Given the description of an element on the screen output the (x, y) to click on. 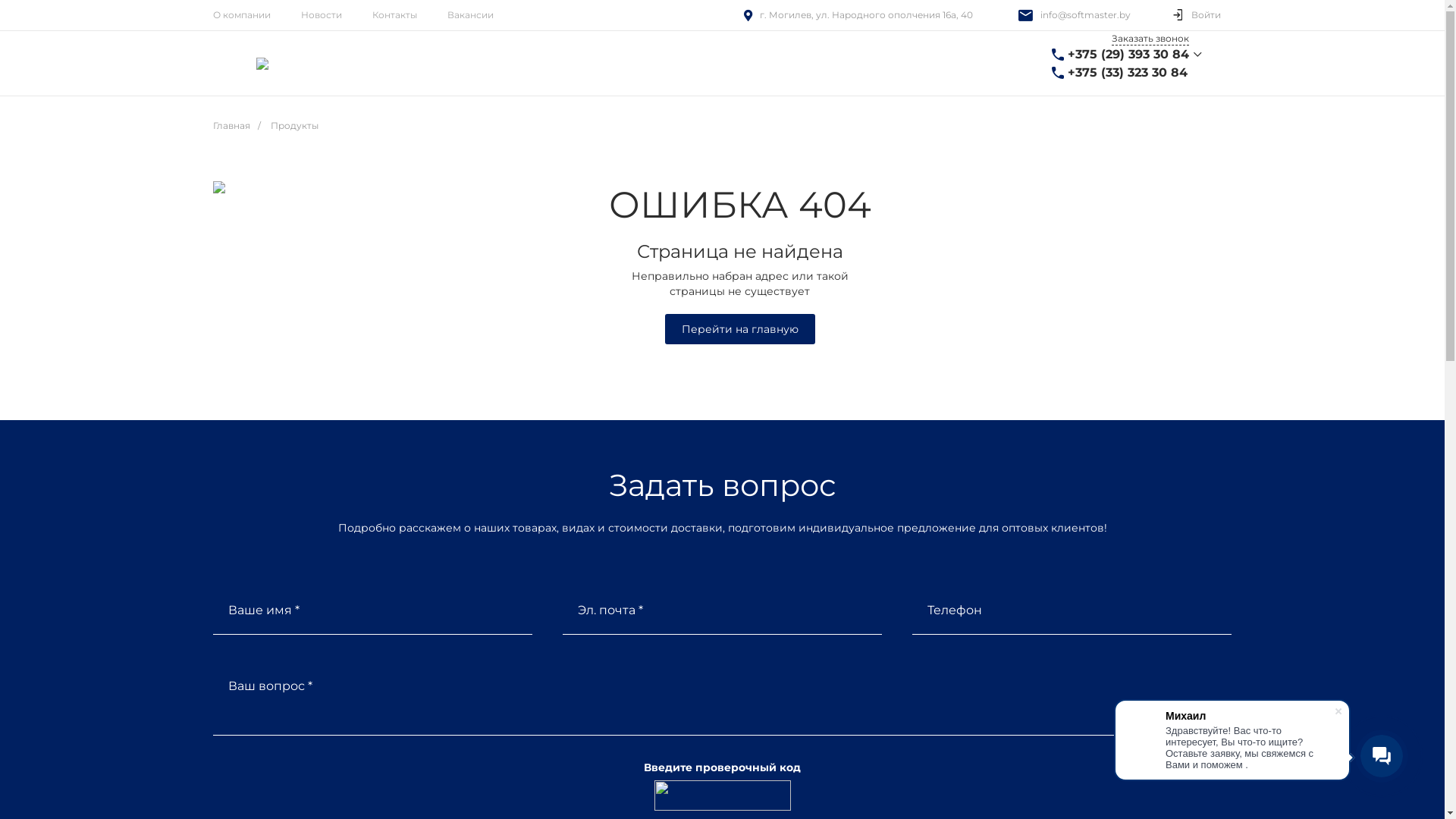
+375 (29) 393 30 84 Element type: text (1128, 54)
+375 (33) 323 30 84 Element type: text (1127, 72)
info@softmaster.by Element type: text (1085, 14)
